Given the description of an element on the screen output the (x, y) to click on. 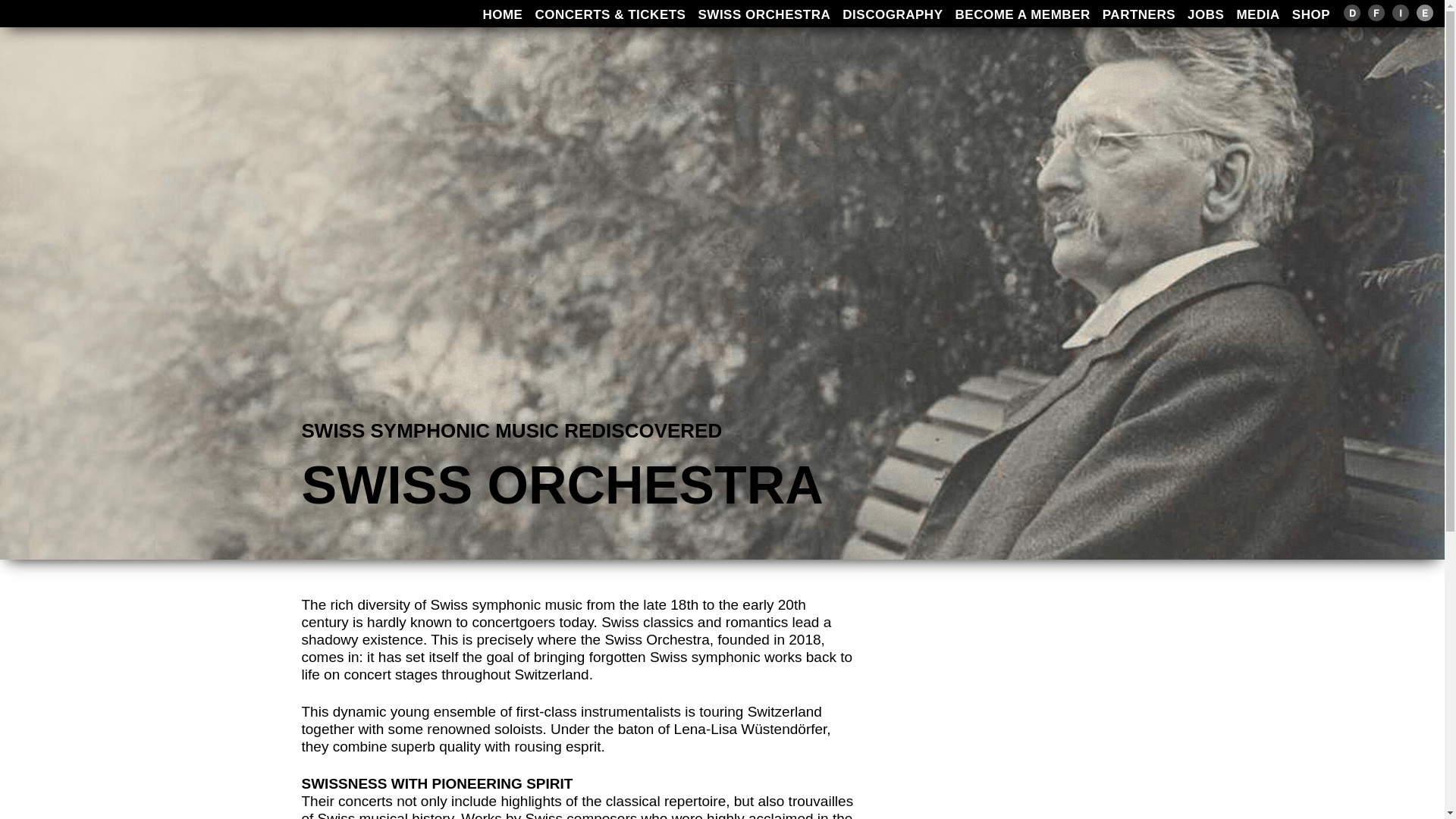
SWISS ORCHESTRA (763, 13)
SHOP (1310, 13)
MEDIA (1257, 13)
JOBS (1205, 13)
BECOME A MEMBER (1022, 13)
PARTNERS (1138, 13)
HOME (502, 13)
DISCOGRAPHY (892, 13)
